Given the description of an element on the screen output the (x, y) to click on. 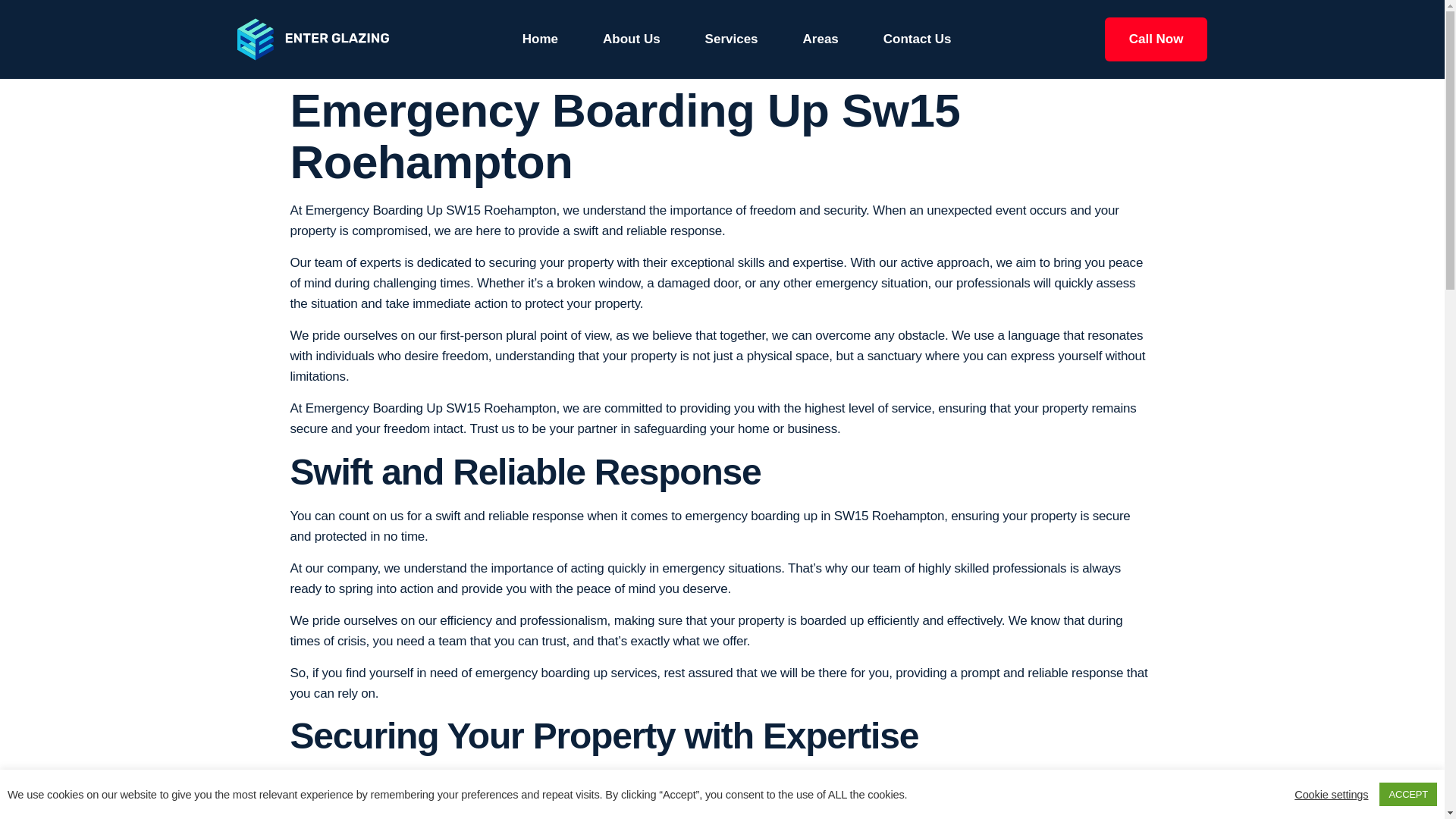
Areas (821, 39)
About Us (631, 39)
Services (731, 39)
Home (540, 39)
